Given the description of an element on the screen output the (x, y) to click on. 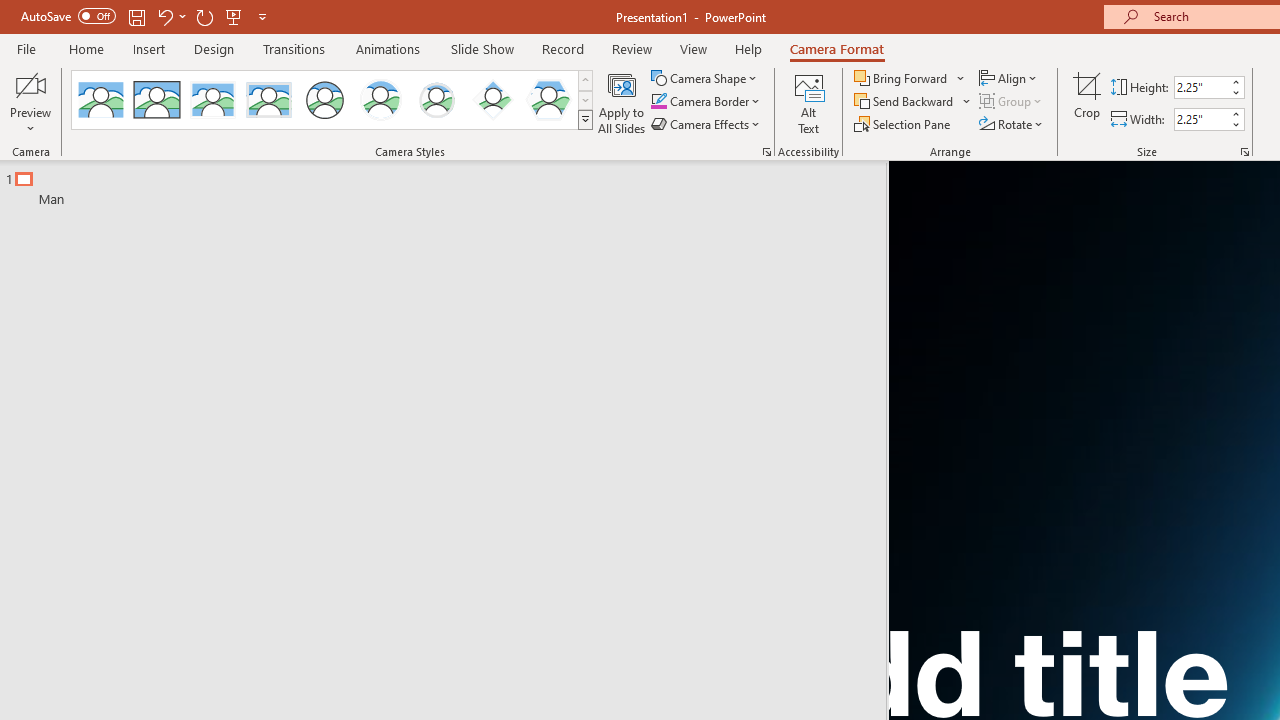
Camera Shape (705, 78)
Center Shadow Diamond (492, 100)
Cameo Width (1201, 119)
Camera Border (706, 101)
Soft Edge Rectangle (268, 100)
